Given the description of an element on the screen output the (x, y) to click on. 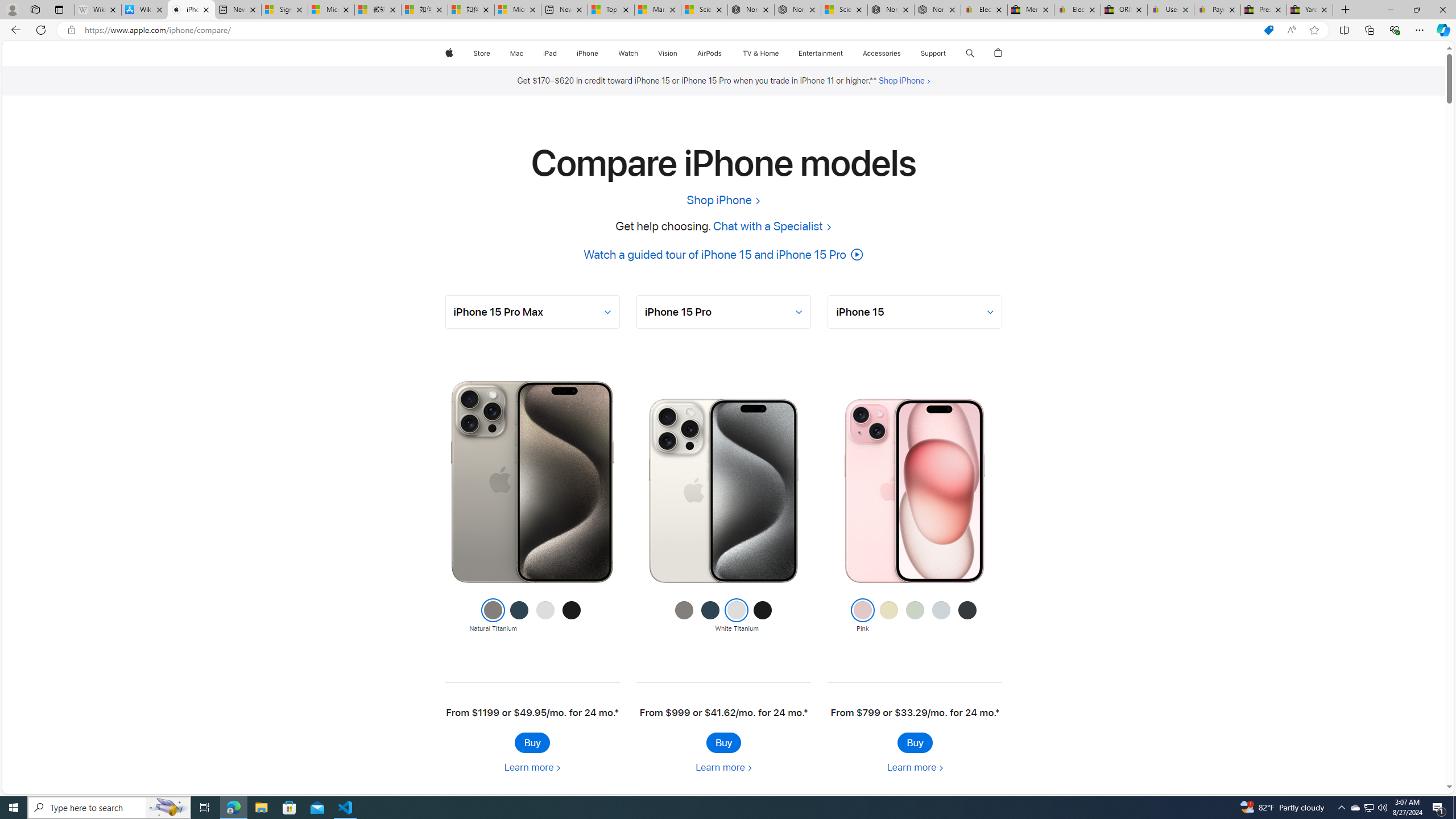
AutomationID: globalnav-bag (998, 53)
Pink (862, 615)
Buy iPhone 15 (914, 742)
AirPods menu (723, 53)
Store (481, 53)
AutomationID: selector-2 (914, 311)
Buy iPhone 15 Pro Max (532, 742)
Blue Titanium (710, 615)
